Given the description of an element on the screen output the (x, y) to click on. 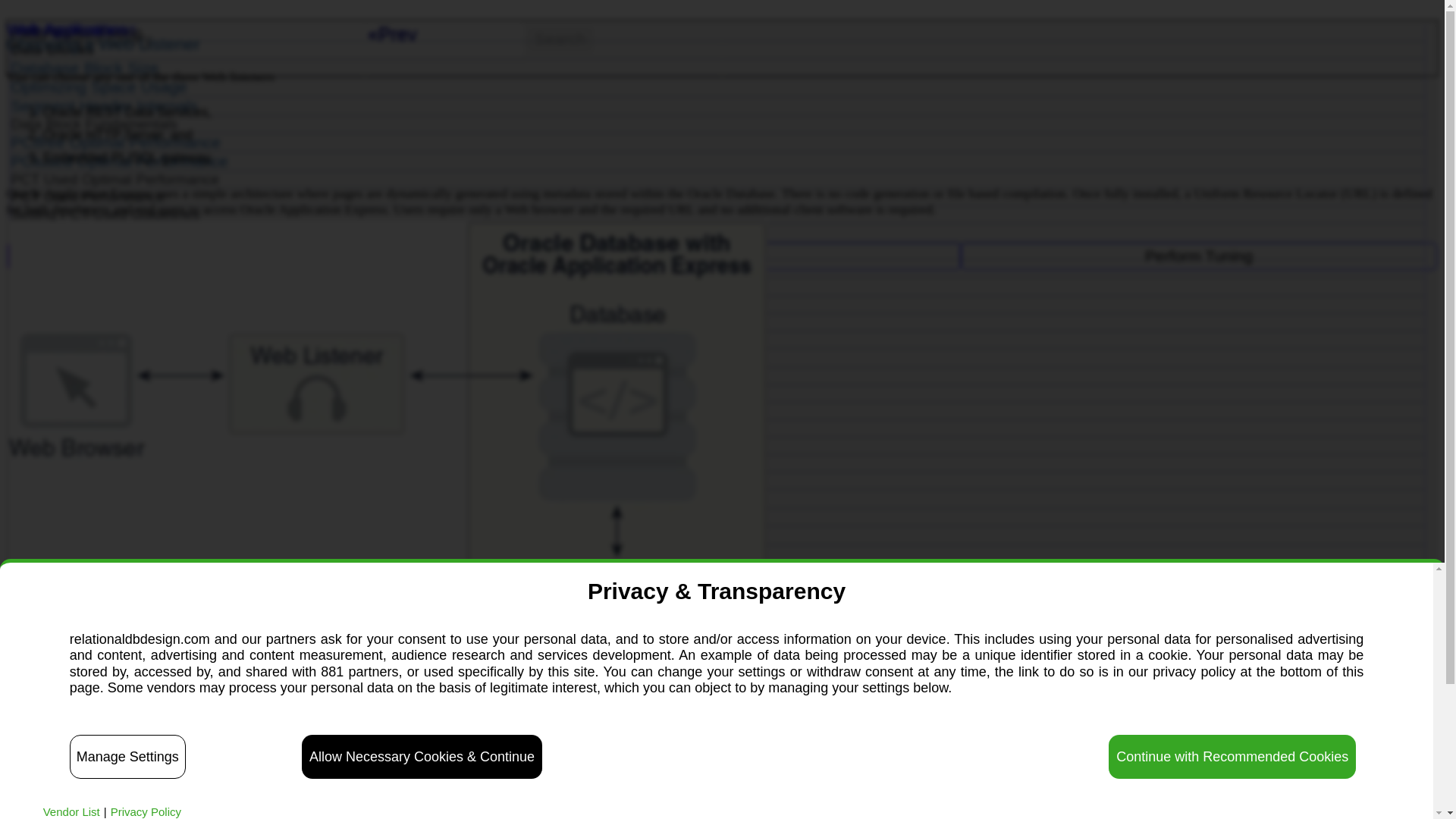
PCtused Optimal Performance (716, 161)
Oracle Varrays (716, 428)
Search (560, 39)
Buffer hit Ratio (716, 516)
Monitoring Tuning Indexes (716, 250)
Advanced Tuning (245, 256)
Search (560, 39)
Using Oracle Objects (716, 393)
Monitoring Tuning Indexes (716, 232)
DBA Performance (716, 498)
